Given the description of an element on the screen output the (x, y) to click on. 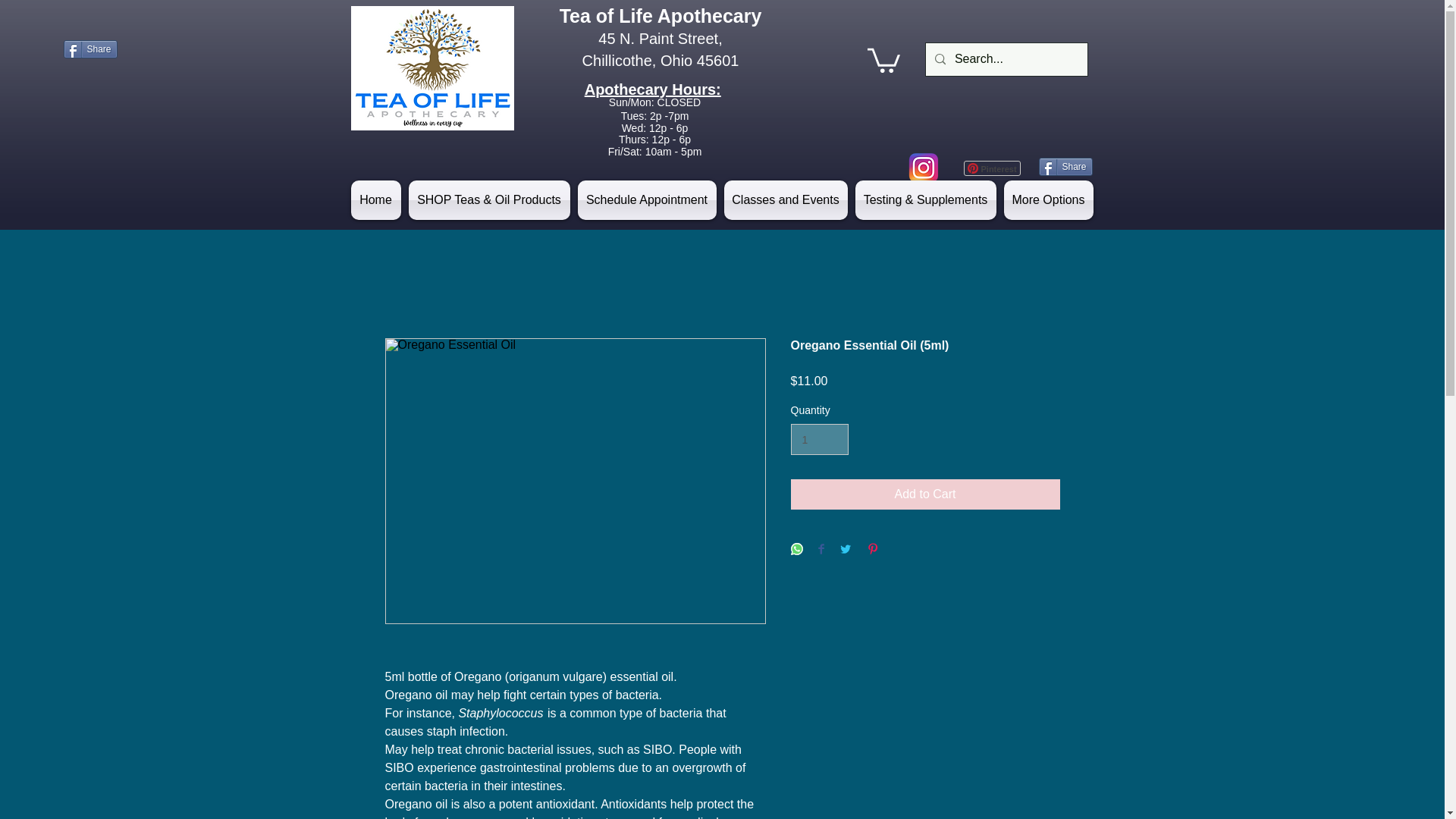
Share (1066, 167)
Home (377, 200)
1 (818, 439)
Classes and Events (785, 200)
Share (90, 49)
Share (1066, 167)
Pinterest (991, 168)
Schedule Appointment (646, 200)
Pinterest (991, 168)
Add to Cart (924, 494)
Share (90, 49)
